Given the description of an element on the screen output the (x, y) to click on. 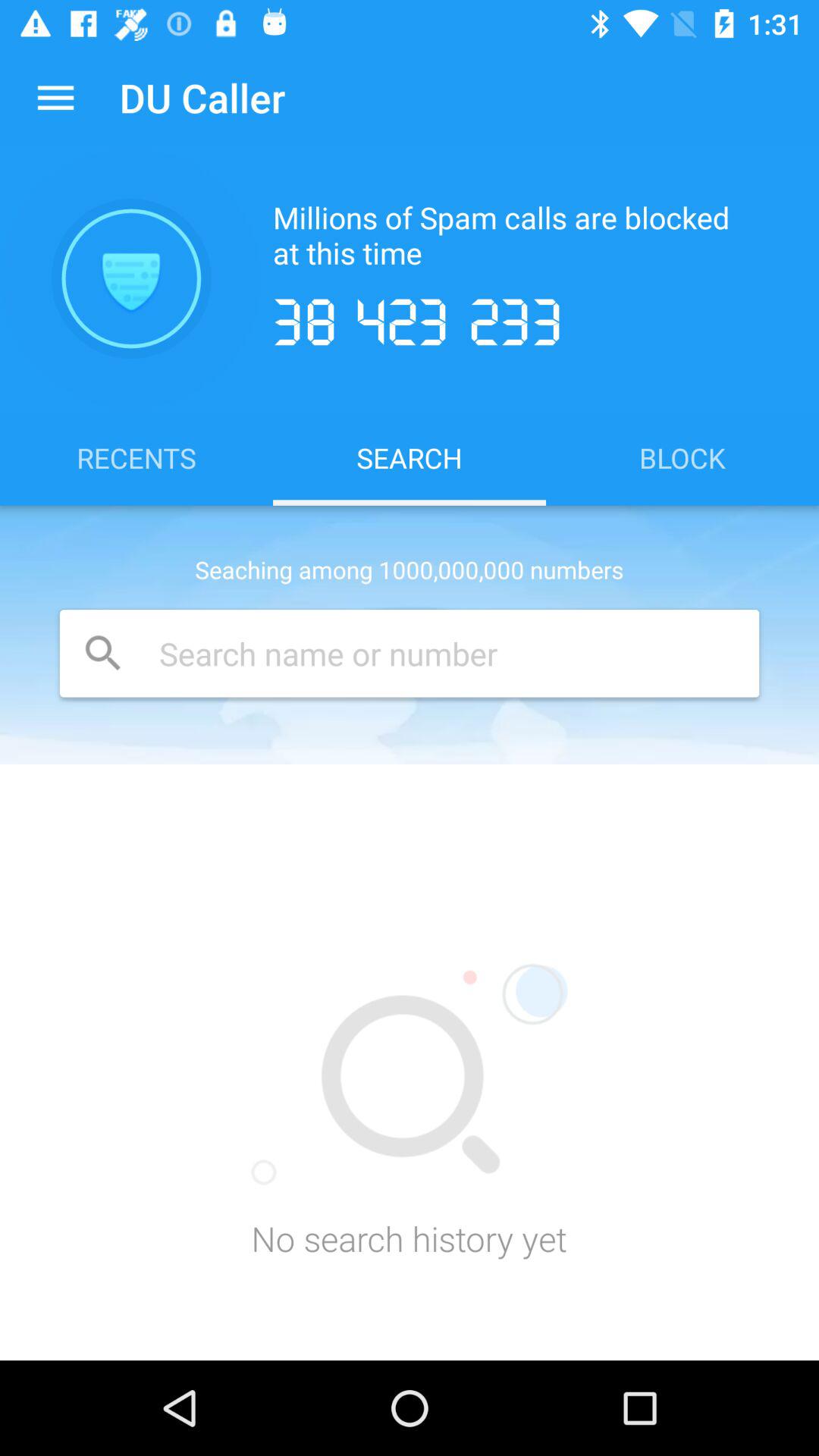
select icon above seaching among 1000 icon (136, 457)
